Given the description of an element on the screen output the (x, y) to click on. 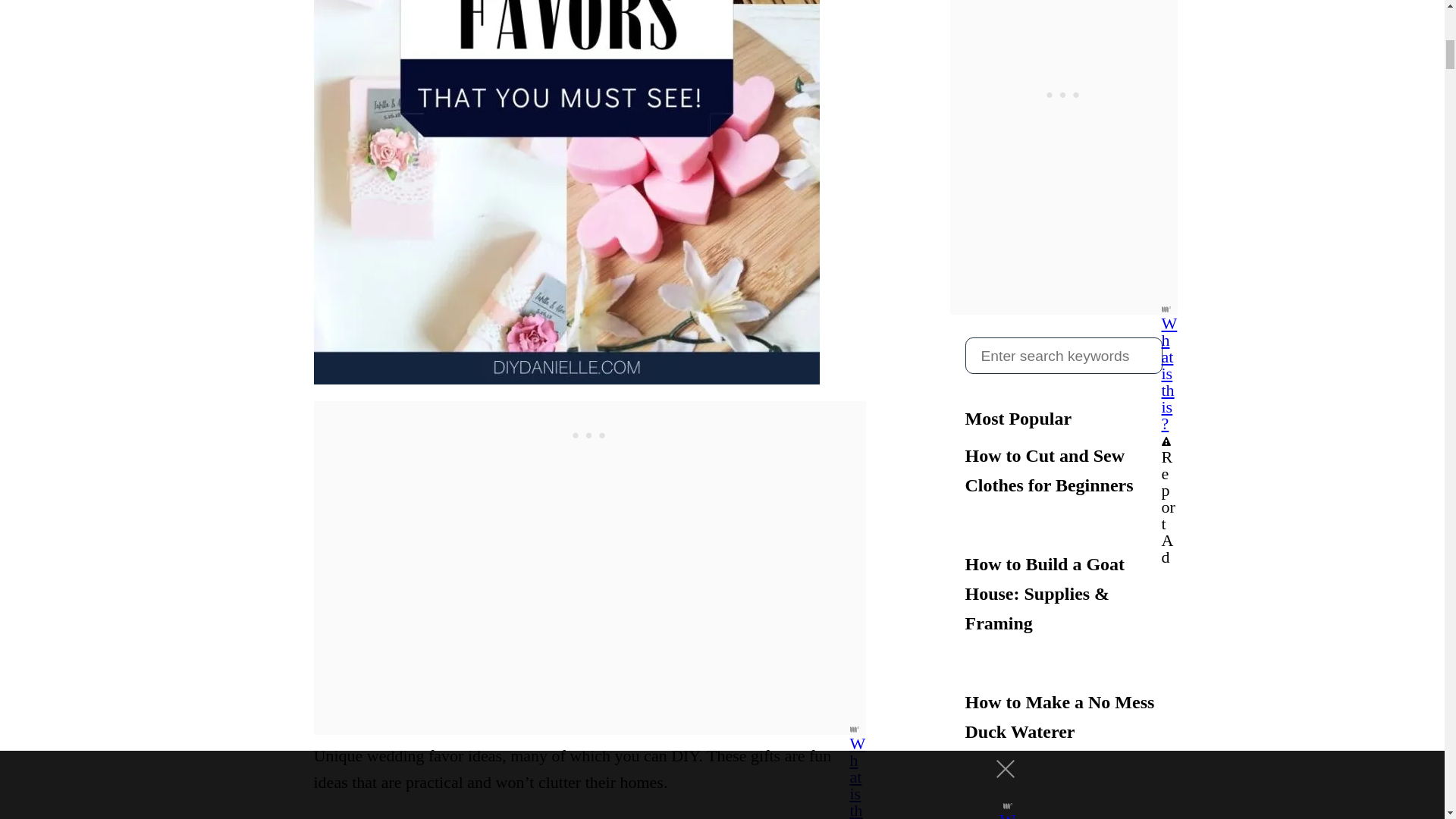
3rd party ad content (590, 435)
